Given the description of an element on the screen output the (x, y) to click on. 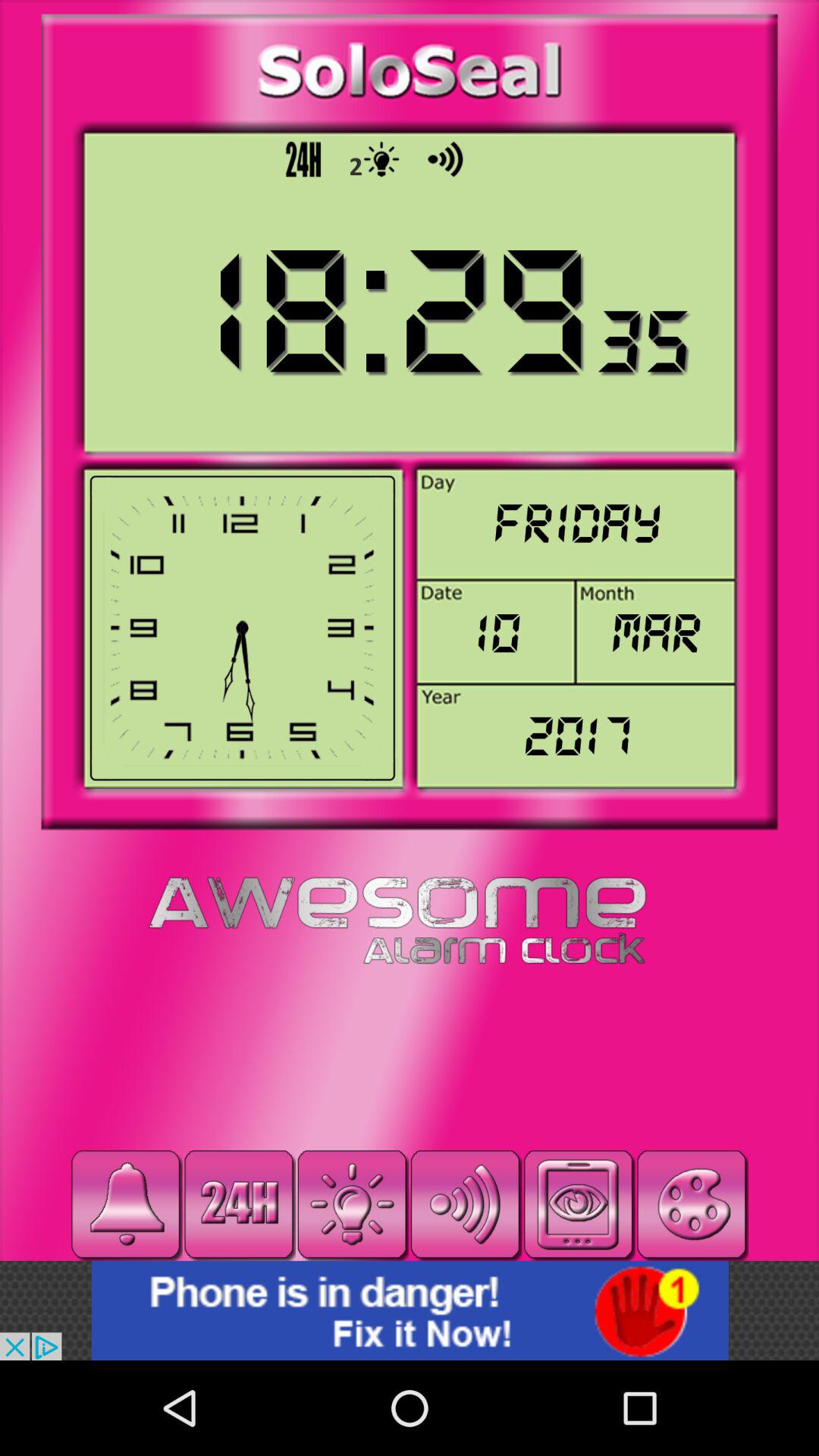
it a alarm key (125, 1203)
